Given the description of an element on the screen output the (x, y) to click on. 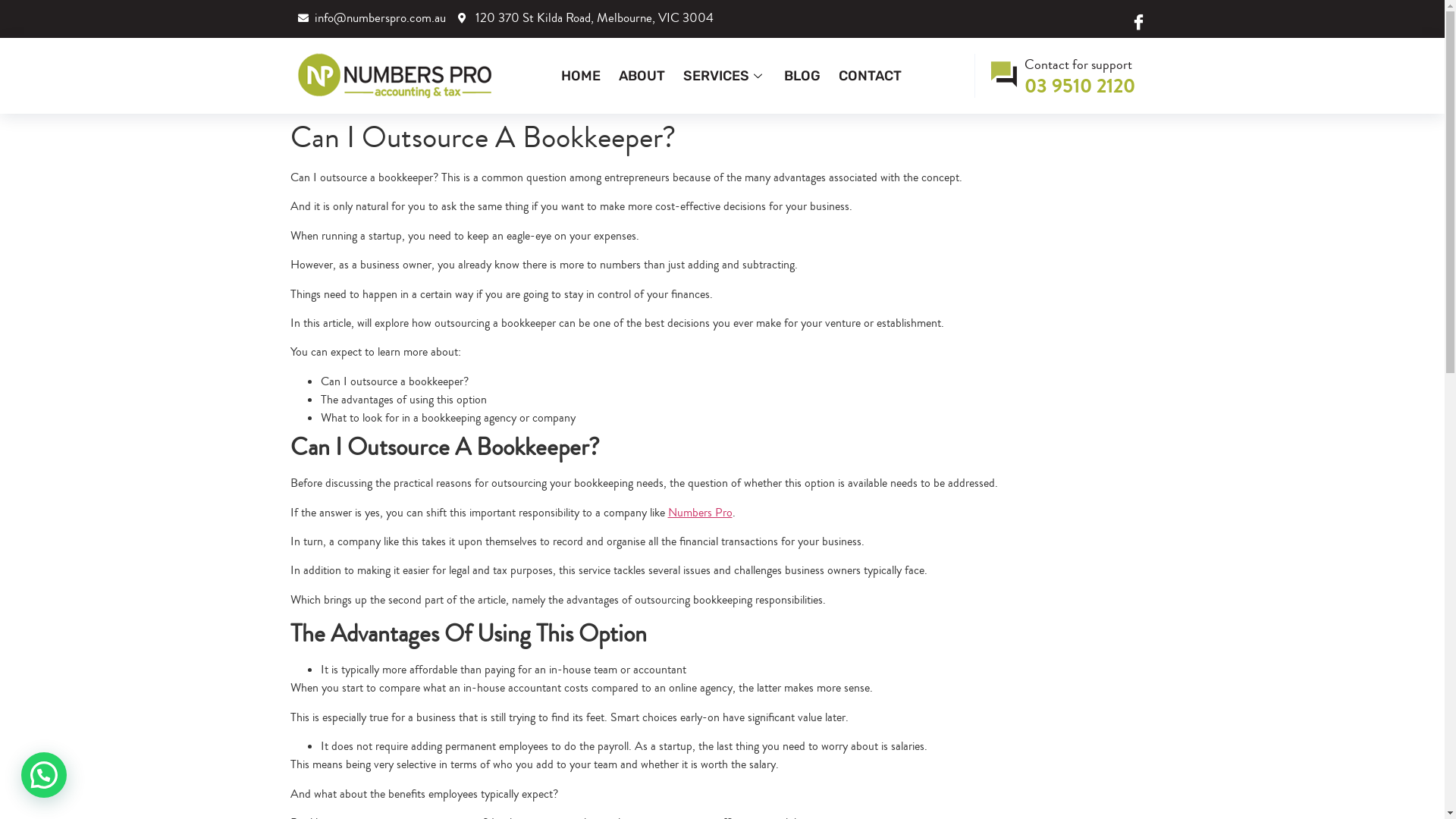
CONTACT Element type: text (869, 75)
SERVICES Element type: text (723, 75)
Contact for support
03 9510 2120 Element type: text (1065, 75)
Numbers Pro Element type: text (699, 512)
120 370 St Kilda Road, Melbourne, VIC 3004 Element type: text (585, 17)
info@numberspro.com.au Element type: text (371, 17)
HOME Element type: text (580, 75)
BLOG Element type: text (802, 75)
ABOUT Element type: text (641, 75)
